Given the description of an element on the screen output the (x, y) to click on. 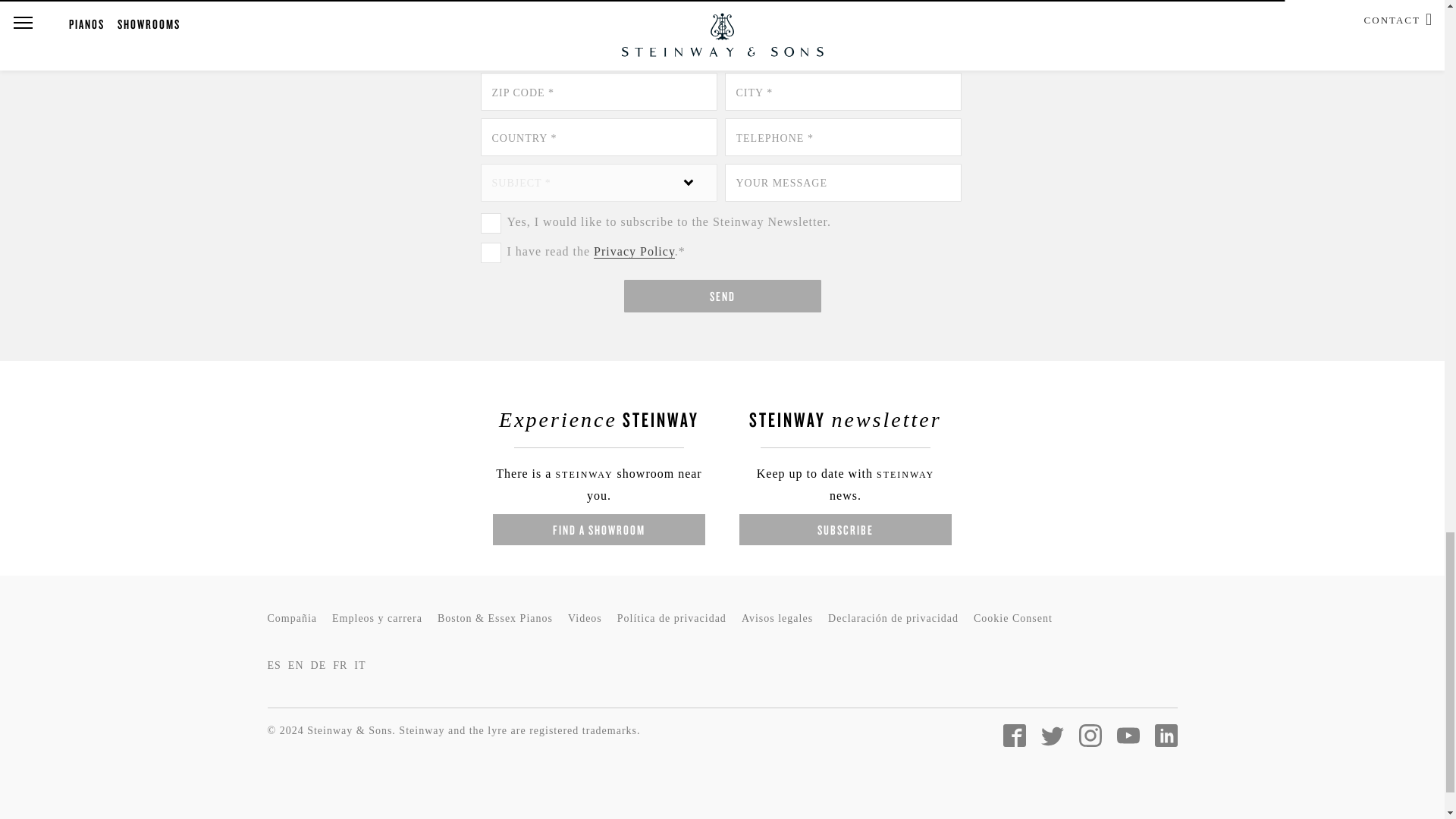
Privacy Policy (634, 251)
SEND (722, 296)
Opens external link in new window (634, 251)
